Given the description of an element on the screen output the (x, y) to click on. 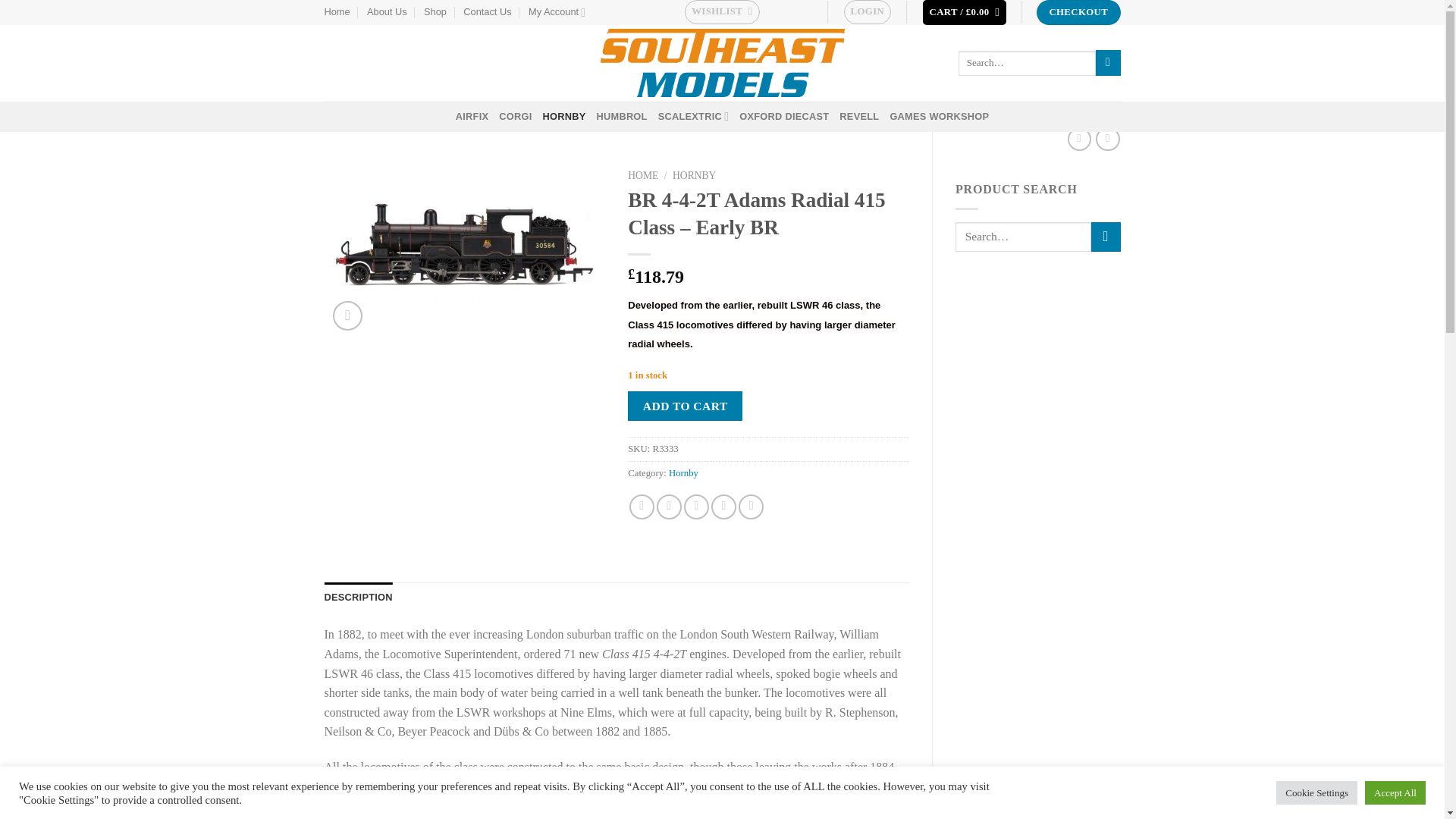
Share on Facebook (640, 506)
Share on Twitter (668, 506)
Login (867, 12)
Search (1108, 62)
WISHLIST (722, 12)
Cart (965, 12)
HUMBROL (620, 116)
Wishlist (722, 12)
Southeast Models - My WordPress Blog (721, 62)
Pin on Pinterest (723, 506)
